Given the description of an element on the screen output the (x, y) to click on. 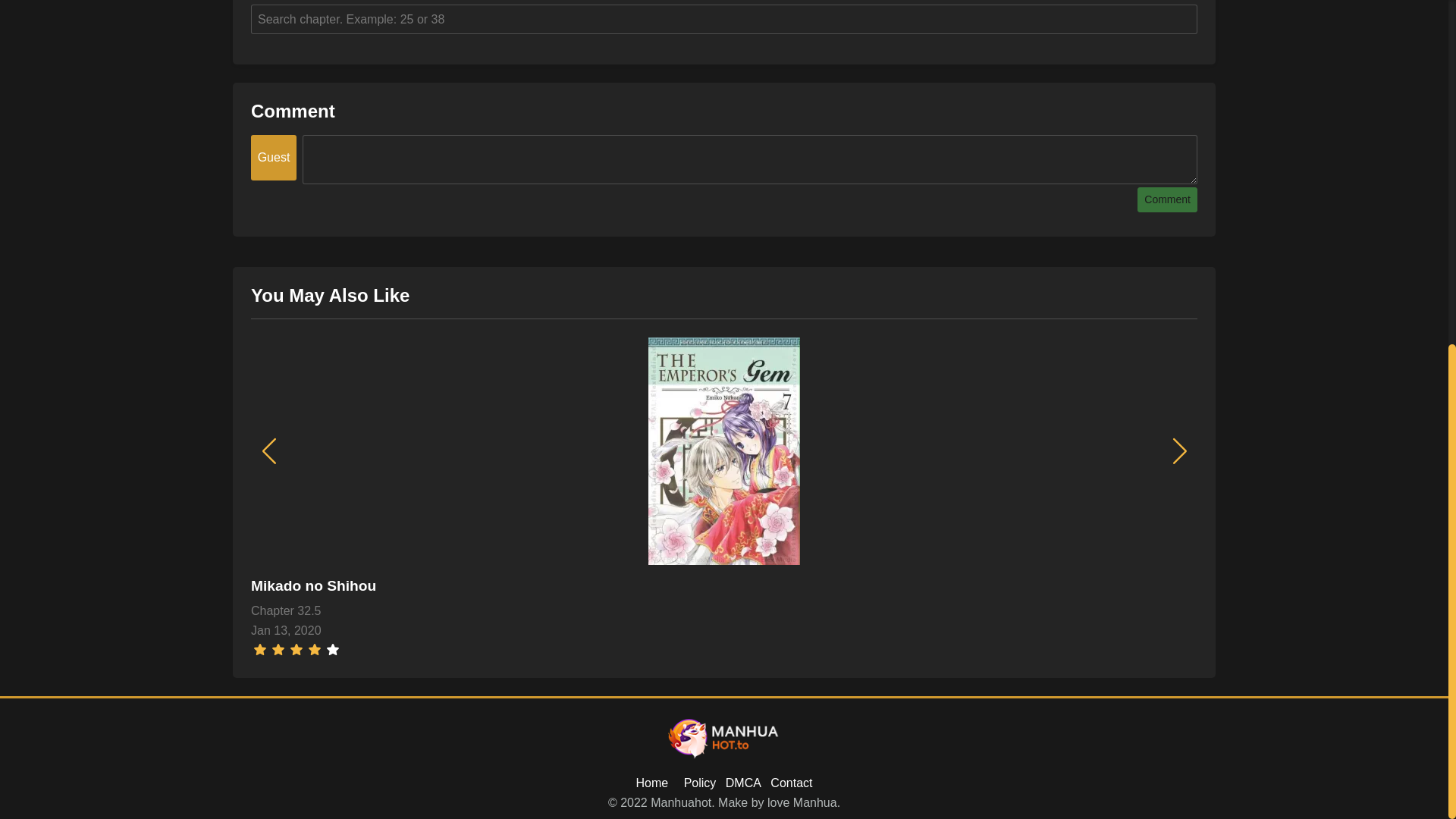
Comment (1166, 199)
Comment (1166, 199)
Chapter 32.5 (723, 610)
